Given the description of an element on the screen output the (x, y) to click on. 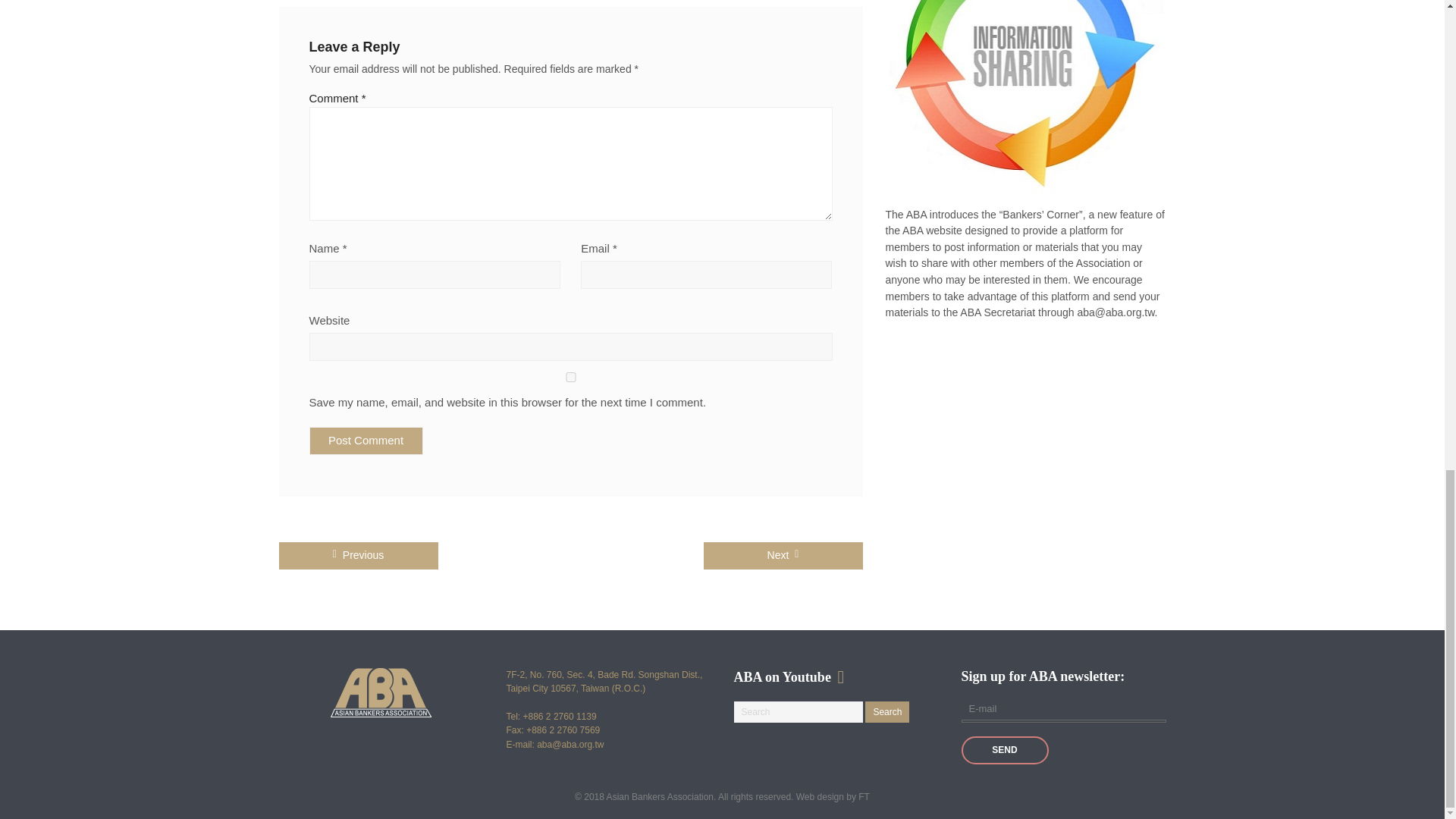
Search (886, 711)
yes (570, 377)
Next (783, 555)
Previous (358, 555)
Post Comment (365, 440)
Post Comment (365, 440)
Send (1004, 749)
